Given the description of an element on the screen output the (x, y) to click on. 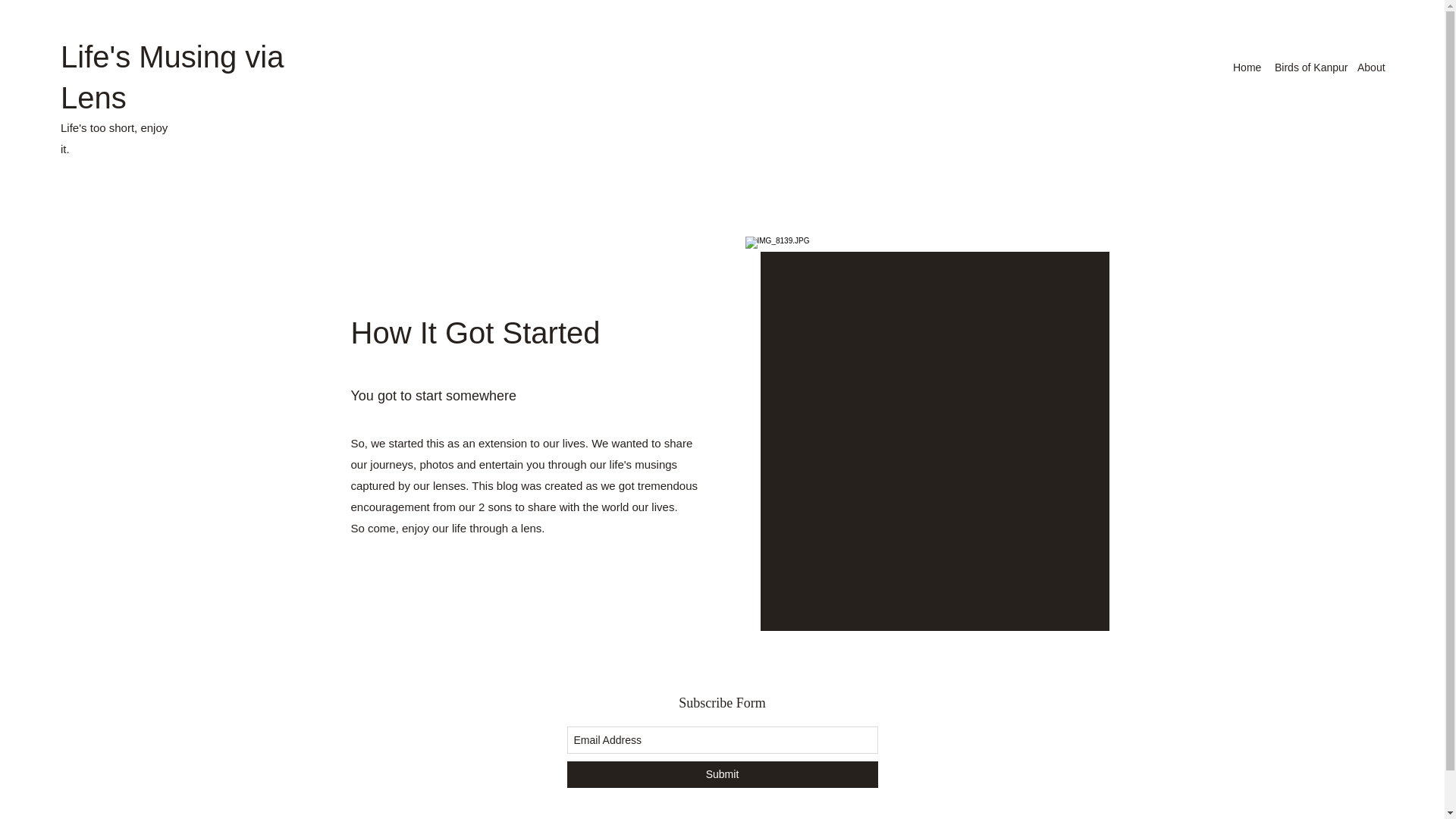
Birds of Kanpur (1307, 67)
Home (1245, 67)
Life's Musing via Lens (172, 77)
Submit (722, 774)
About (1370, 67)
